Given the description of an element on the screen output the (x, y) to click on. 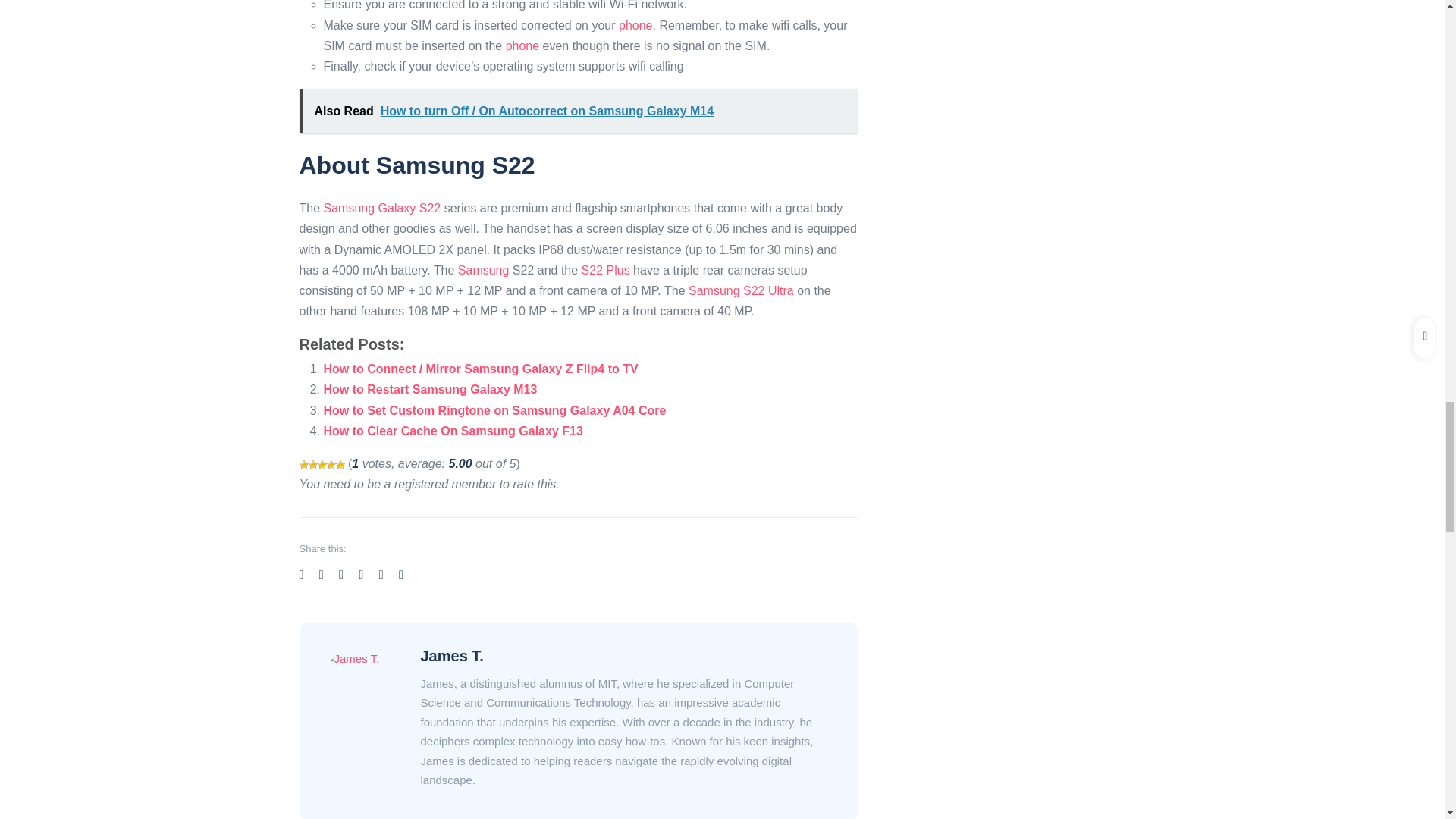
How to Clear Cache On Samsung Galaxy F13 (452, 431)
1 vote, average: 5.00 out of 5 (312, 464)
How to Set Custom Ringtone on Samsung Galaxy A04 Core (494, 410)
1 vote, average: 5.00 out of 5 (302, 464)
How to Restart Samsung Galaxy M13 (430, 389)
